Given the description of an element on the screen output the (x, y) to click on. 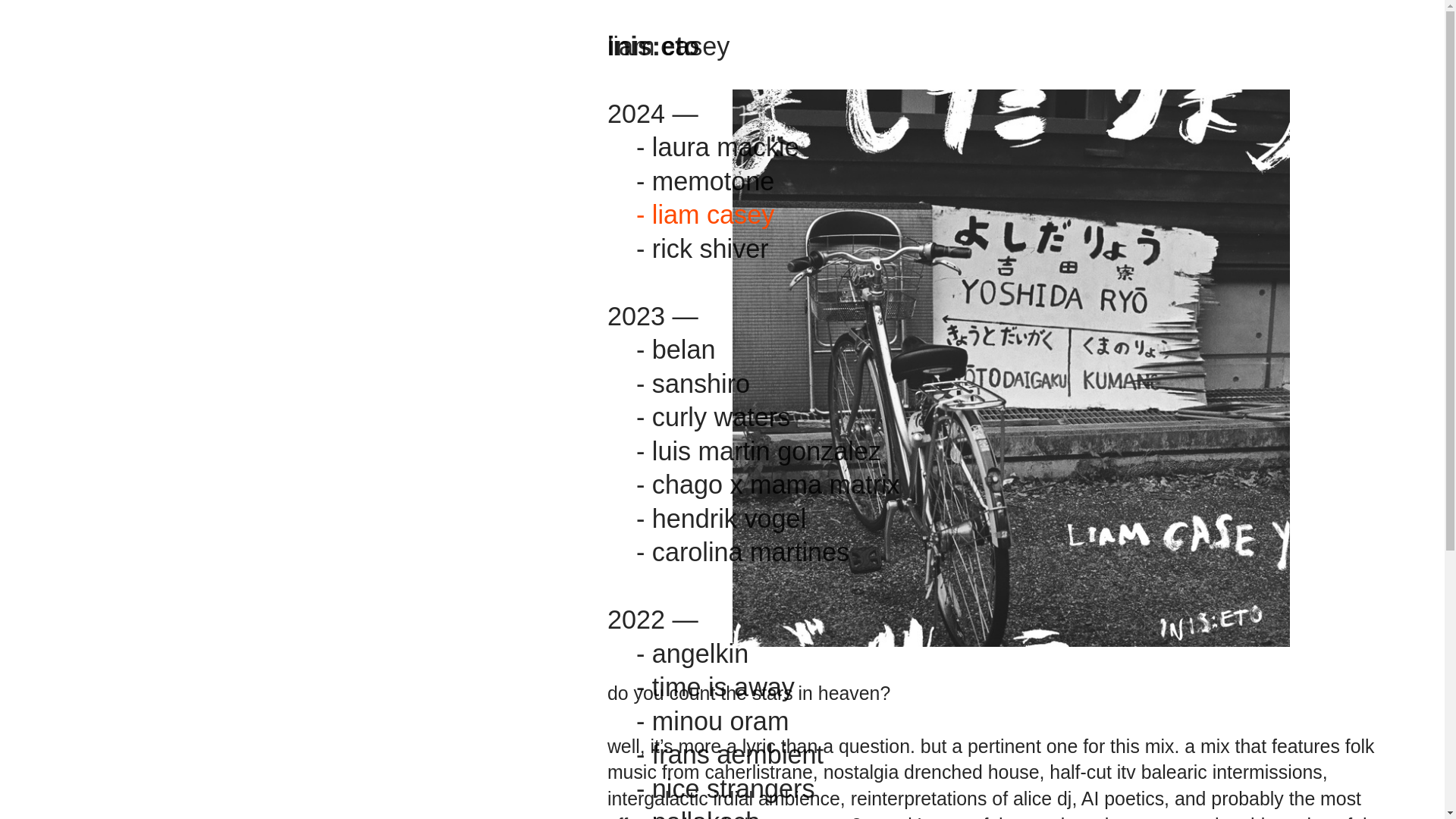
- nice strangers (725, 789)
- frans aembient (730, 755)
- carolina martines (742, 552)
- curly waters (713, 418)
- pallaksch (698, 813)
- laura mackie (717, 147)
- belan (676, 350)
- rick shiver (709, 266)
- angelkin (688, 654)
- liam casey (705, 214)
